Given the description of an element on the screen output the (x, y) to click on. 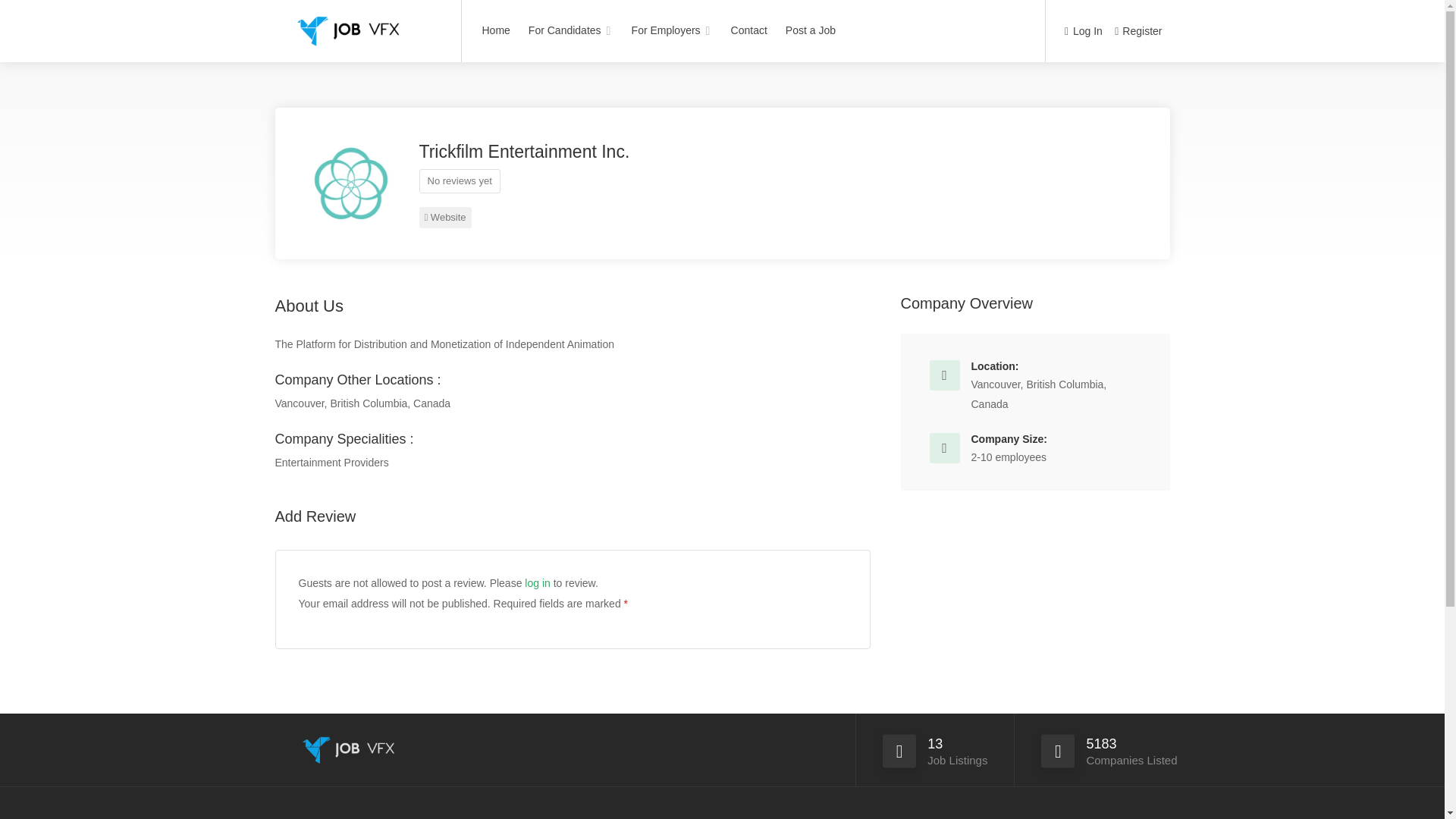
Register (1138, 31)
For Employers (671, 30)
Contact (749, 30)
Job VFX (358, 25)
Home (495, 30)
Log In (1083, 31)
Post a Job (810, 30)
For Candidates (570, 30)
